Given the description of an element on the screen output the (x, y) to click on. 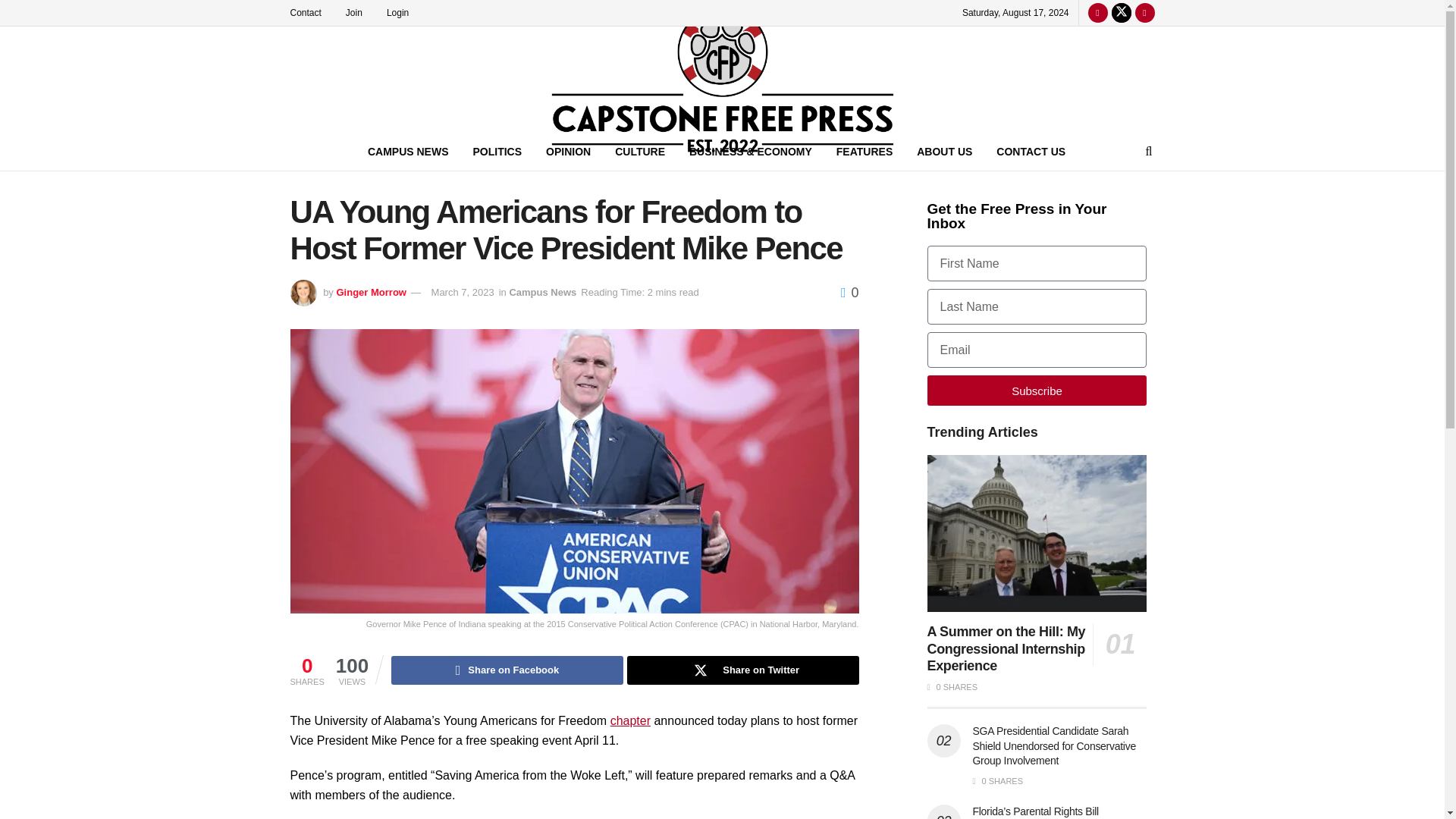
March 7, 2023 (462, 292)
Ginger Morrow (371, 292)
CONTACT US (1030, 151)
Contact (312, 12)
0 (850, 292)
Campus News (542, 292)
chapter (630, 720)
OPINION (568, 151)
Login (405, 12)
Join (361, 12)
